Given the description of an element on the screen output the (x, y) to click on. 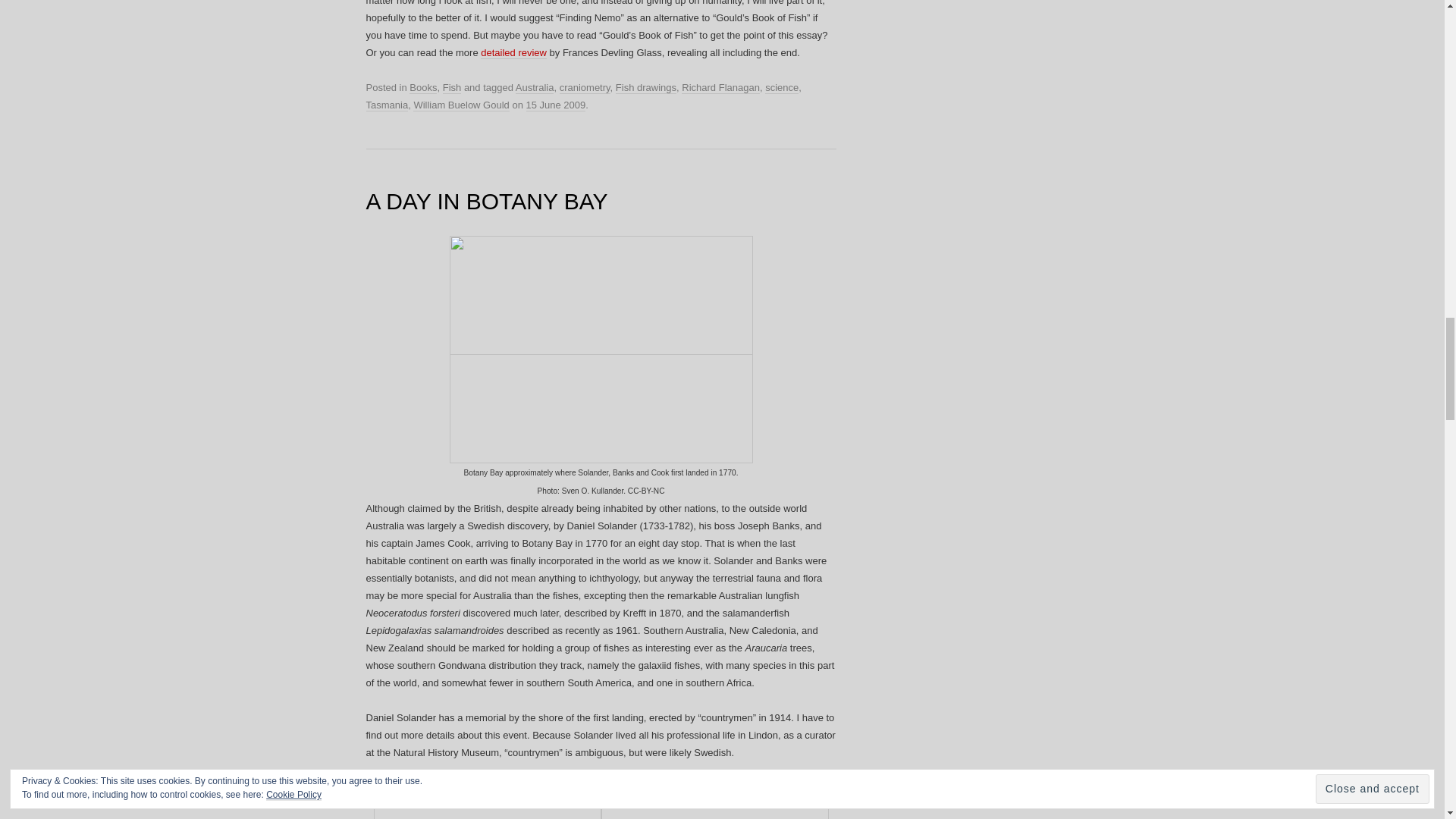
15 June 2009 (555, 105)
detailed review (513, 52)
Australia (534, 87)
William Buelow Gould (460, 105)
Richard Flanagan (720, 87)
Fish (451, 87)
12:12 (555, 105)
Tasmania (386, 105)
Fish drawings (646, 87)
Books (422, 87)
